Given the description of an element on the screen output the (x, y) to click on. 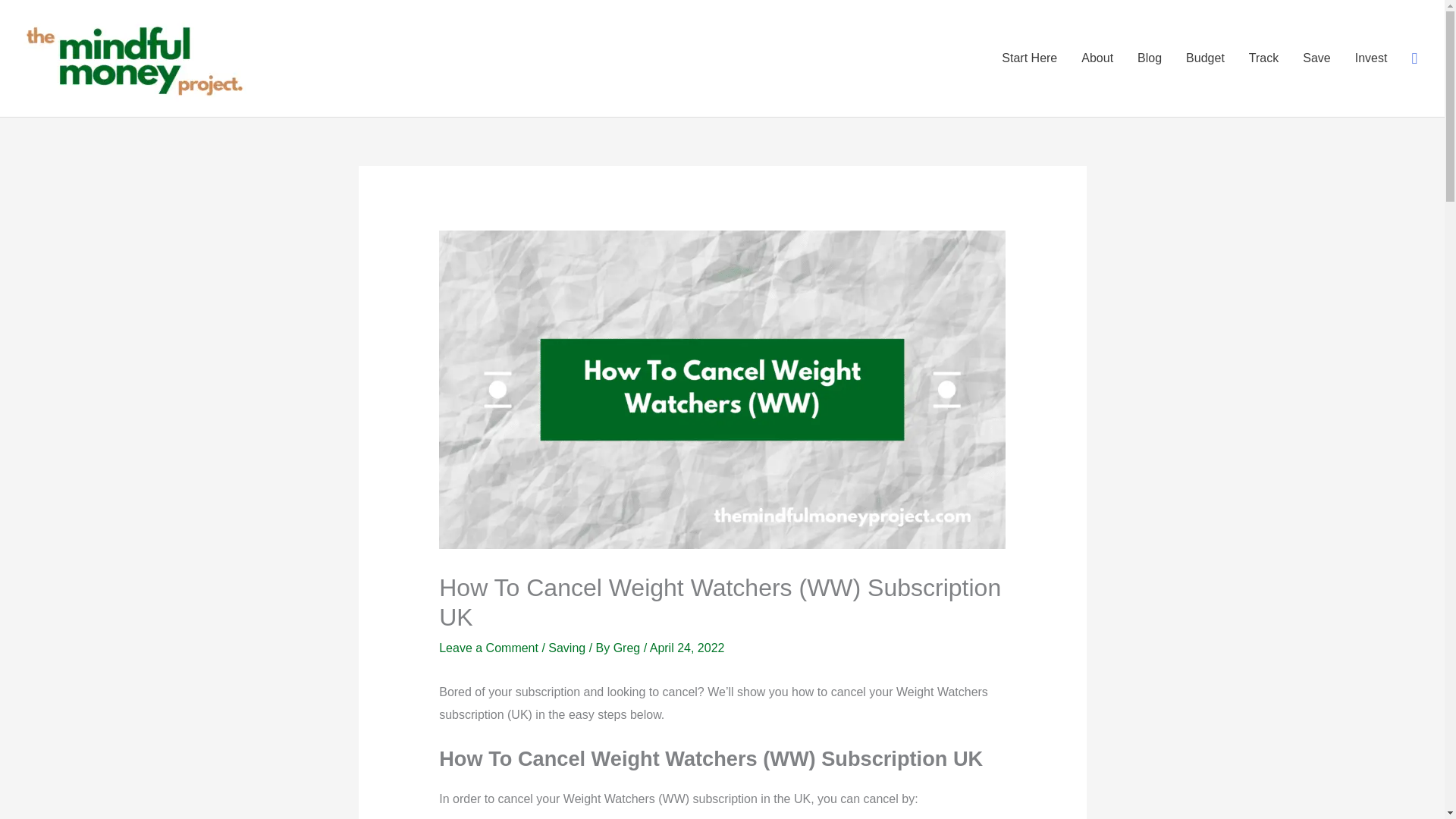
Saving (566, 647)
Budget (1204, 58)
View all posts by Greg (627, 647)
Blog (1149, 58)
Leave a Comment (488, 647)
Invest (1370, 58)
Start Here (1029, 58)
Track (1263, 58)
Greg (627, 647)
Save (1316, 58)
About (1096, 58)
